Given the description of an element on the screen output the (x, y) to click on. 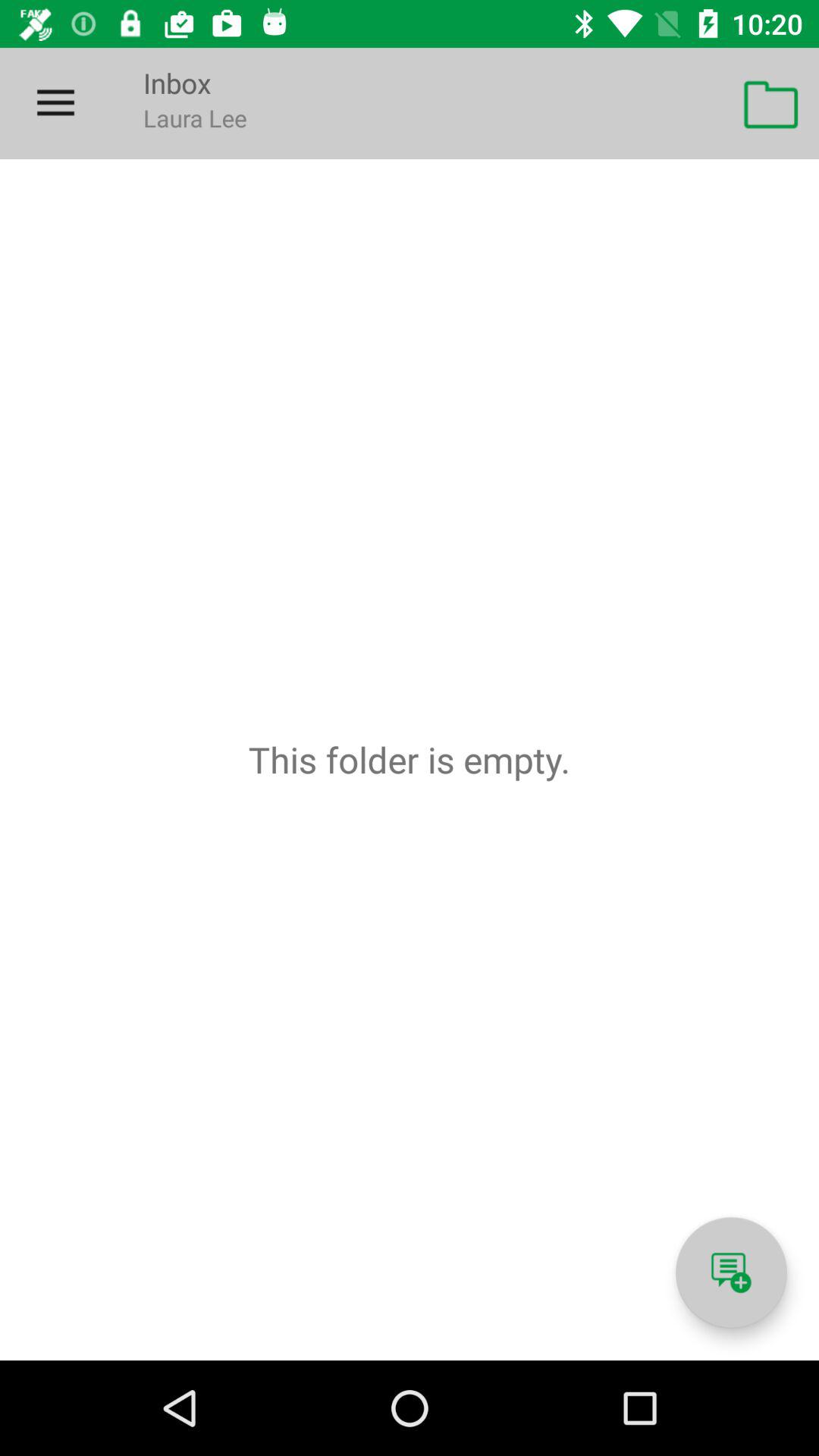
tap icon to the left of inbox (55, 103)
